Given the description of an element on the screen output the (x, y) to click on. 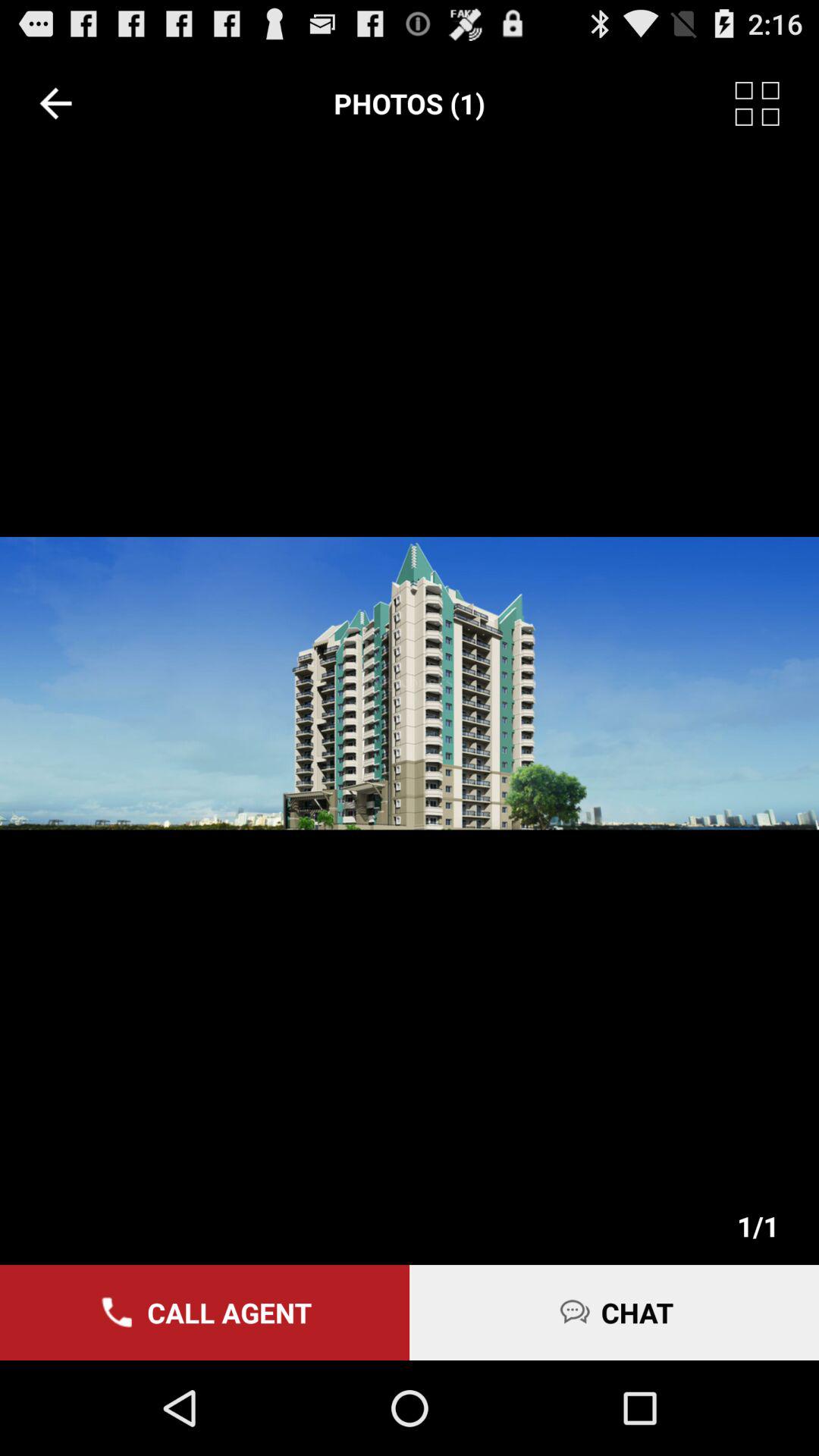
turn on the icon to the left of the photos (1) (55, 103)
